Given the description of an element on the screen output the (x, y) to click on. 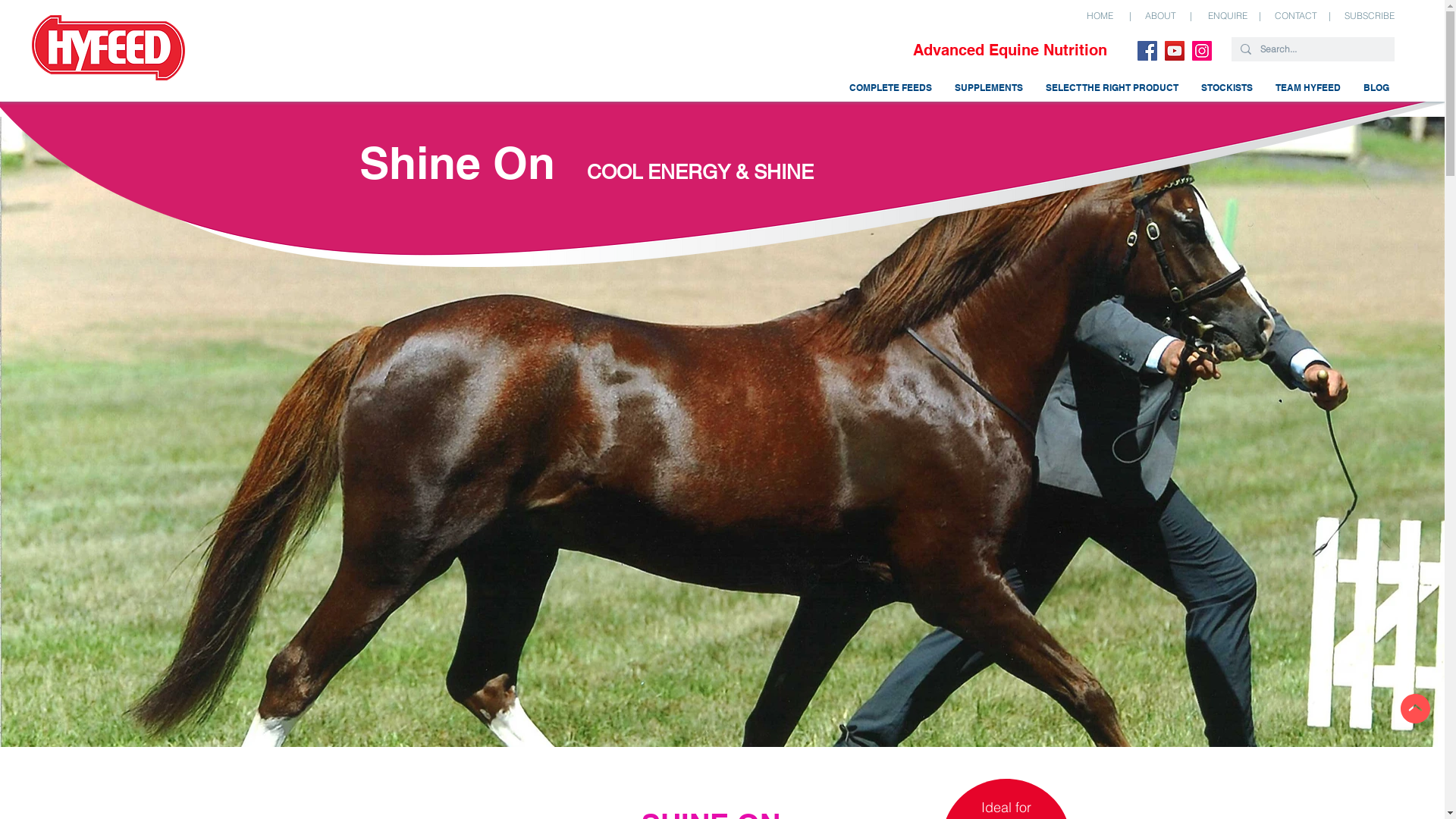
ENQUIRE  Element type: text (1228, 15)
ABOUT Element type: text (1160, 15)
HOME Element type: text (1099, 15)
COMPLETE FEEDS Element type: text (890, 87)
SUPPLEMENTS Element type: text (988, 87)
BLOG Element type: text (1376, 87)
SUBSCRIBE Element type: text (1369, 15)
STOCKISTS Element type: text (1226, 87)
CONTACT Element type: text (1295, 15)
TEAM HYFEED Element type: text (1308, 87)
SELECT THE RIGHT PRODUCT Element type: text (1111, 87)
